Given the description of an element on the screen output the (x, y) to click on. 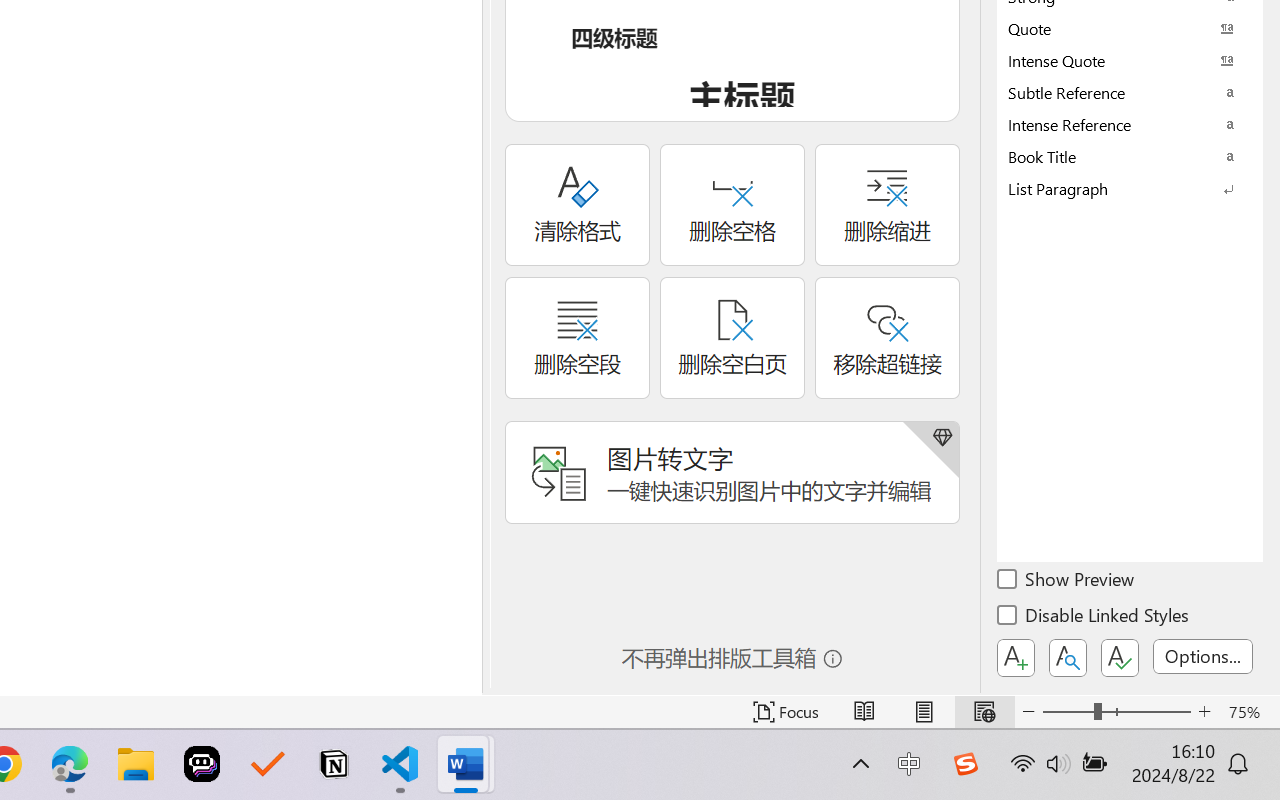
Zoom (1116, 712)
Class: NetUIImage (1116, 188)
Show Preview (1067, 582)
Subtle Reference (1130, 92)
